Given the description of an element on the screen output the (x, y) to click on. 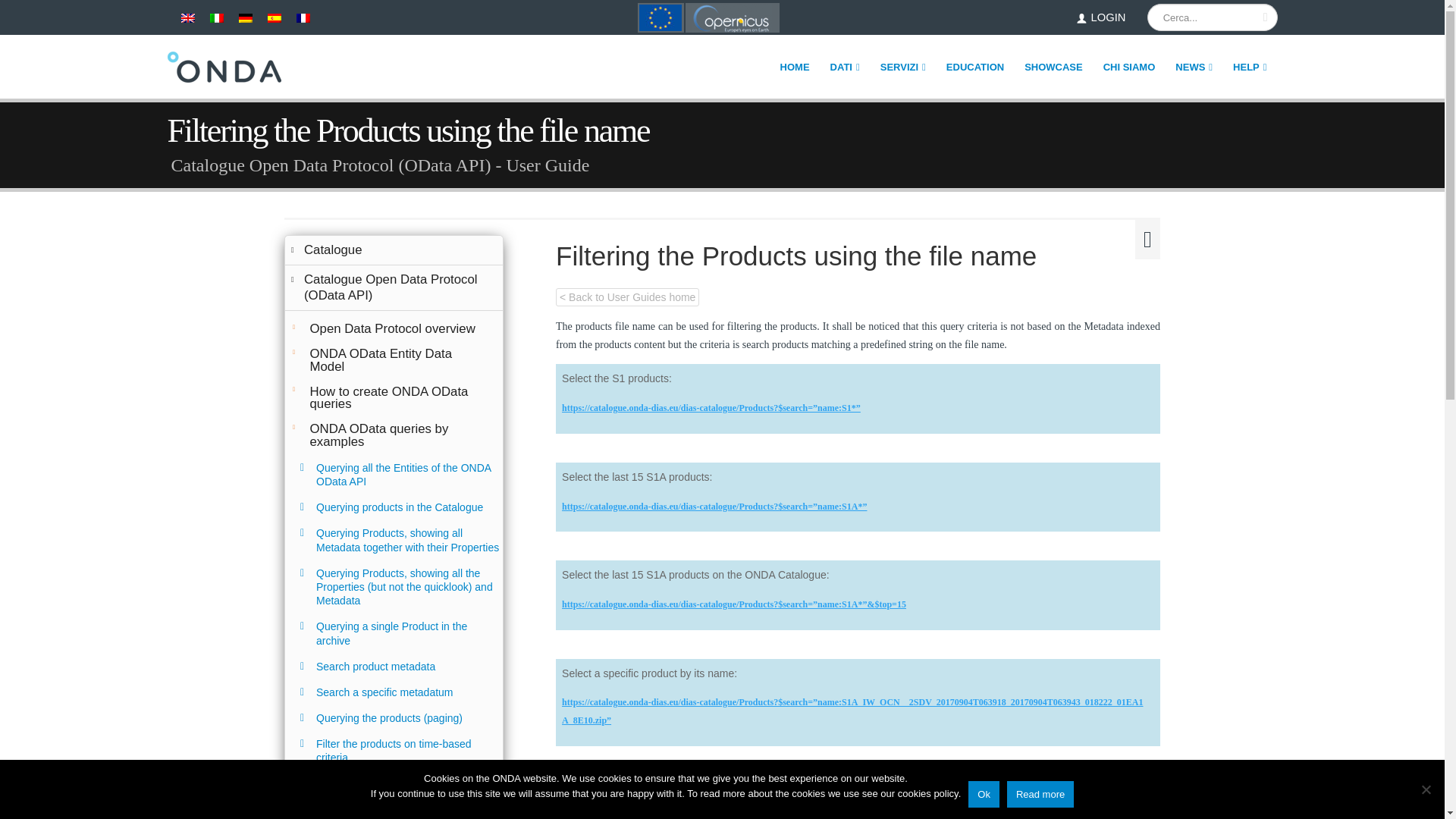
NEWS (1194, 66)
DATI (845, 66)
SHOWCASE (1053, 66)
HELP (1249, 66)
SERVIZI (903, 66)
ONDA-DIAS - People on data (224, 66)
HOME (794, 66)
EDUCATION (974, 66)
Italiano (215, 17)
English (186, 17)
